Given the description of an element on the screen output the (x, y) to click on. 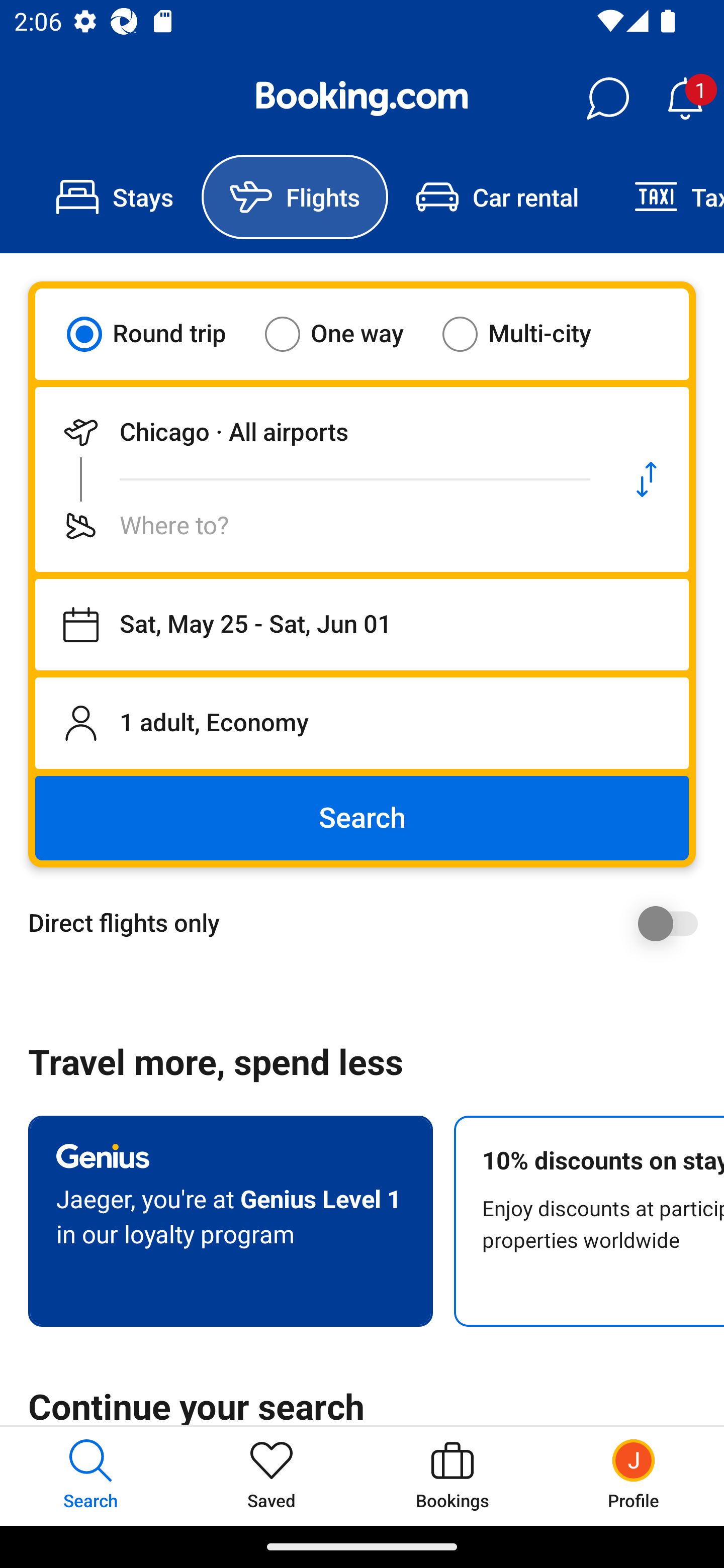
Messages (607, 98)
Notifications (685, 98)
Stays (114, 197)
Flights (294, 197)
Car rental (497, 197)
Taxi (665, 197)
One way (346, 333)
Multi-city (528, 333)
Departing from Chicago · All airports (319, 432)
Swap departure location and destination (646, 479)
Flying to  (319, 525)
Departing on Sat, May 25, returning on Sat, Jun 01 (361, 624)
1 adult, Economy (361, 722)
Search (361, 818)
Direct flights only (369, 923)
Saved (271, 1475)
Bookings (452, 1475)
Profile (633, 1475)
